Given the description of an element on the screen output the (x, y) to click on. 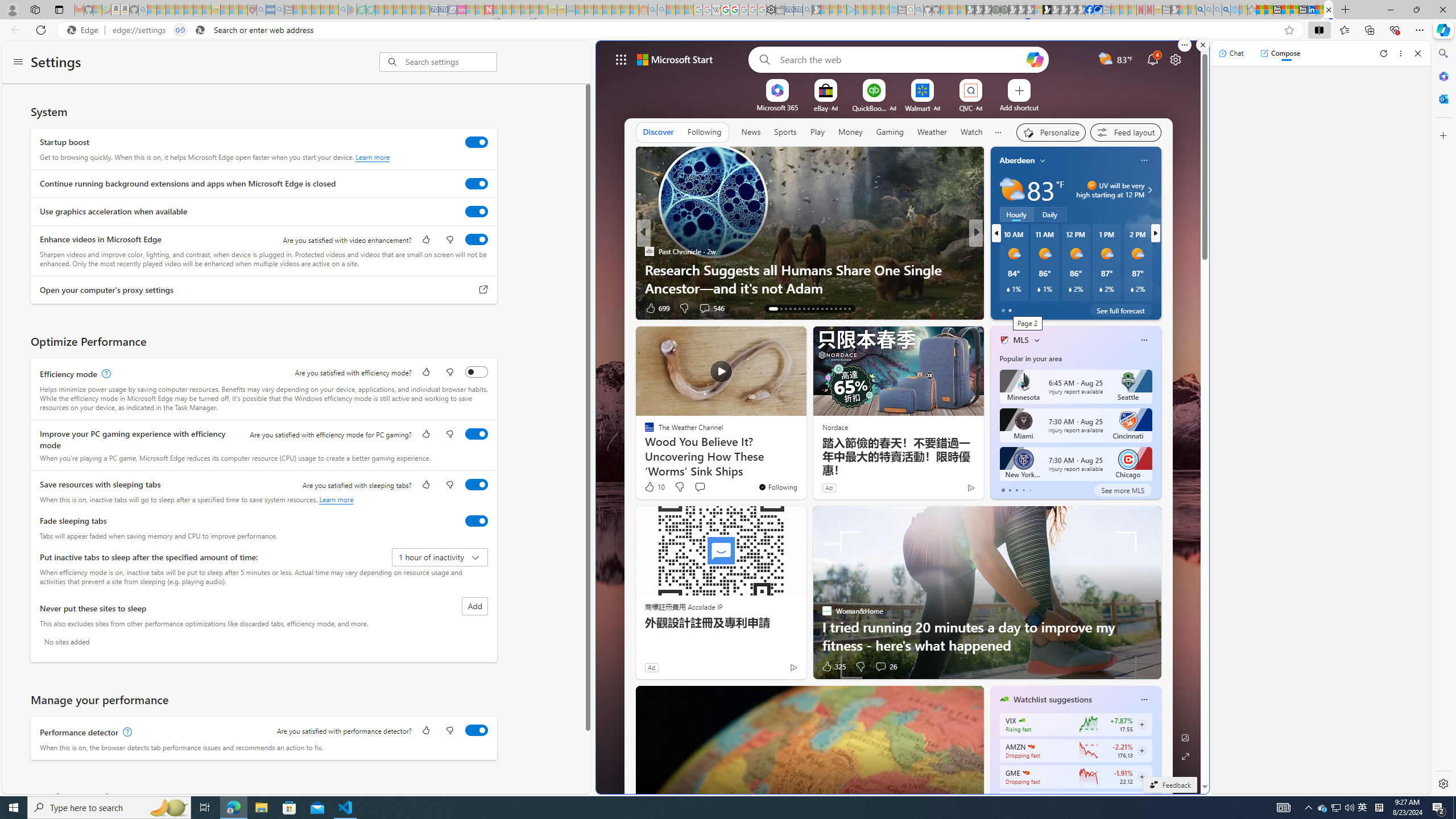
View comments 543 Comment (1051, 307)
Startup boost (476, 142)
Gaming (890, 131)
Money (850, 131)
Page settings (1175, 59)
AutomationID: tab-21 (812, 308)
CNN (999, 250)
Cheap Hotels - Save70.com - Sleeping (442, 9)
